Given the description of an element on the screen output the (x, y) to click on. 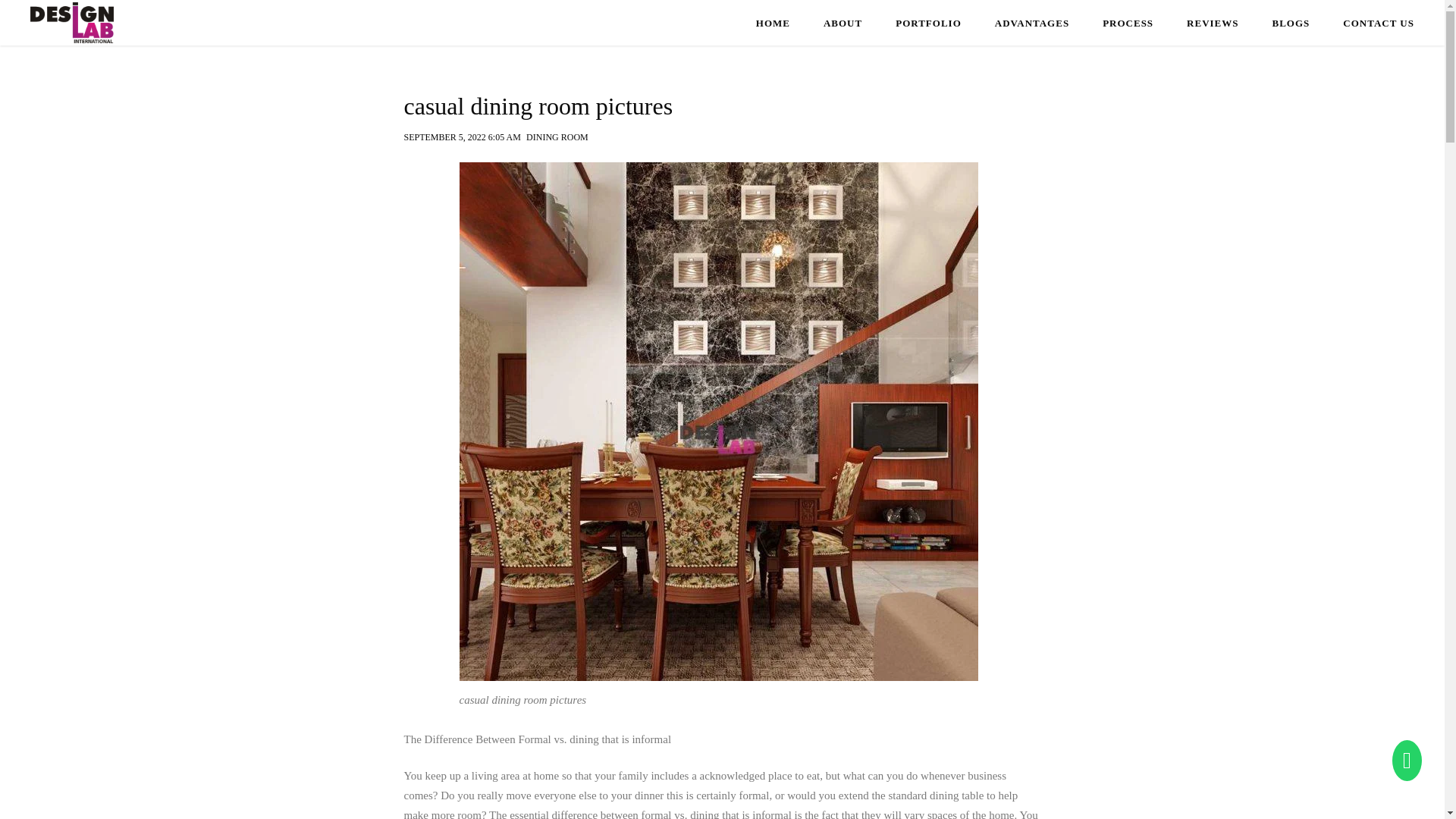
BLOGS (1291, 24)
REVIEWS (1212, 24)
ADVANTAGES (1031, 24)
PROCESS (1127, 24)
ABOUT (842, 24)
PORTFOLIO (927, 24)
CONTACT US (1377, 24)
HOME (772, 24)
DINING ROOM (556, 132)
